Given the description of an element on the screen output the (x, y) to click on. 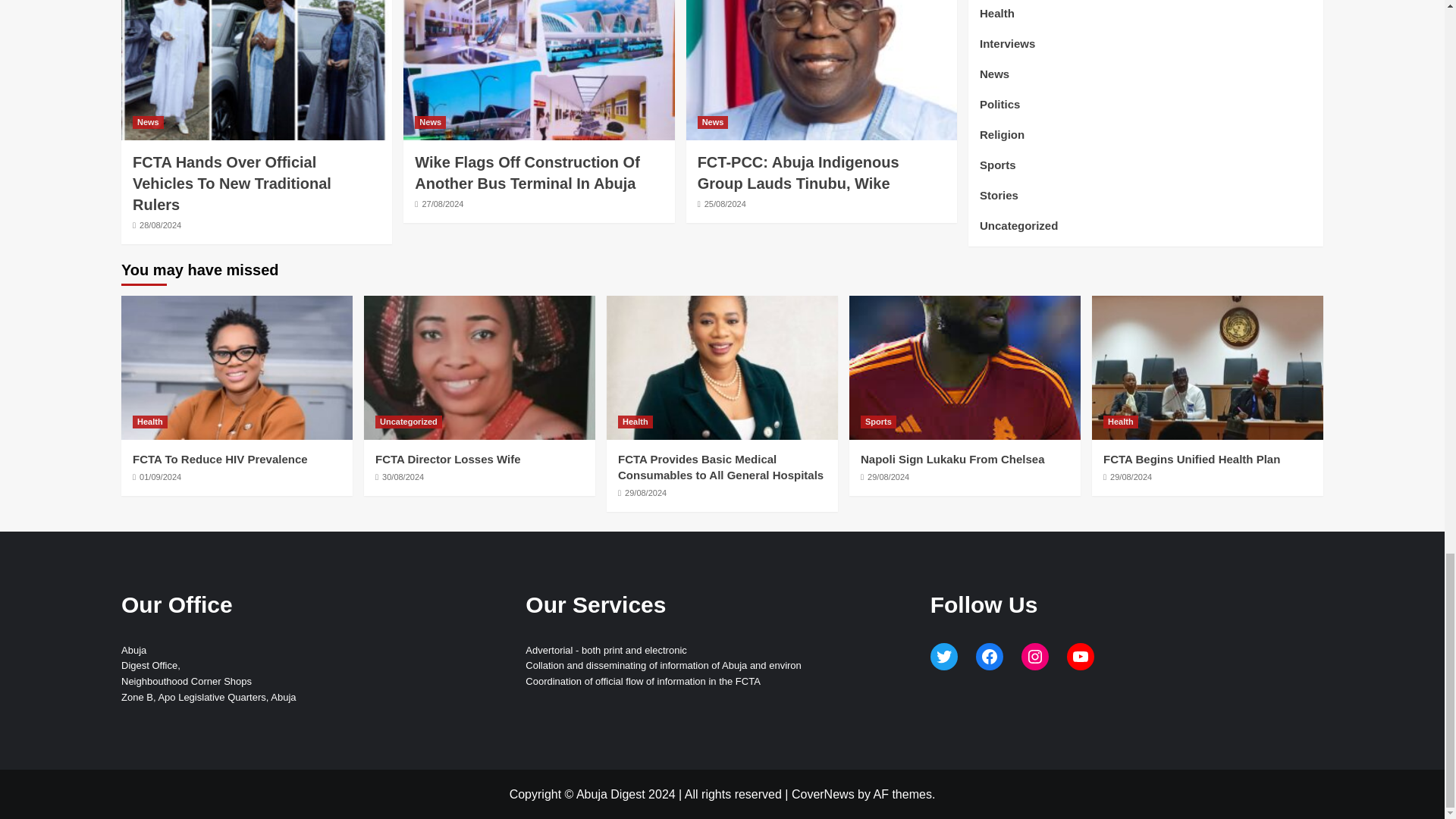
FCT-PCC: Abuja Indigenous Group Lauds Tinubu, Wike (798, 172)
FCTA Hands Over Official Vehicles To New Traditional Rulers (231, 182)
News (429, 122)
News (713, 122)
Wike Flags Off Construction Of Another Bus Terminal In Abuja (527, 172)
News (147, 122)
